Given the description of an element on the screen output the (x, y) to click on. 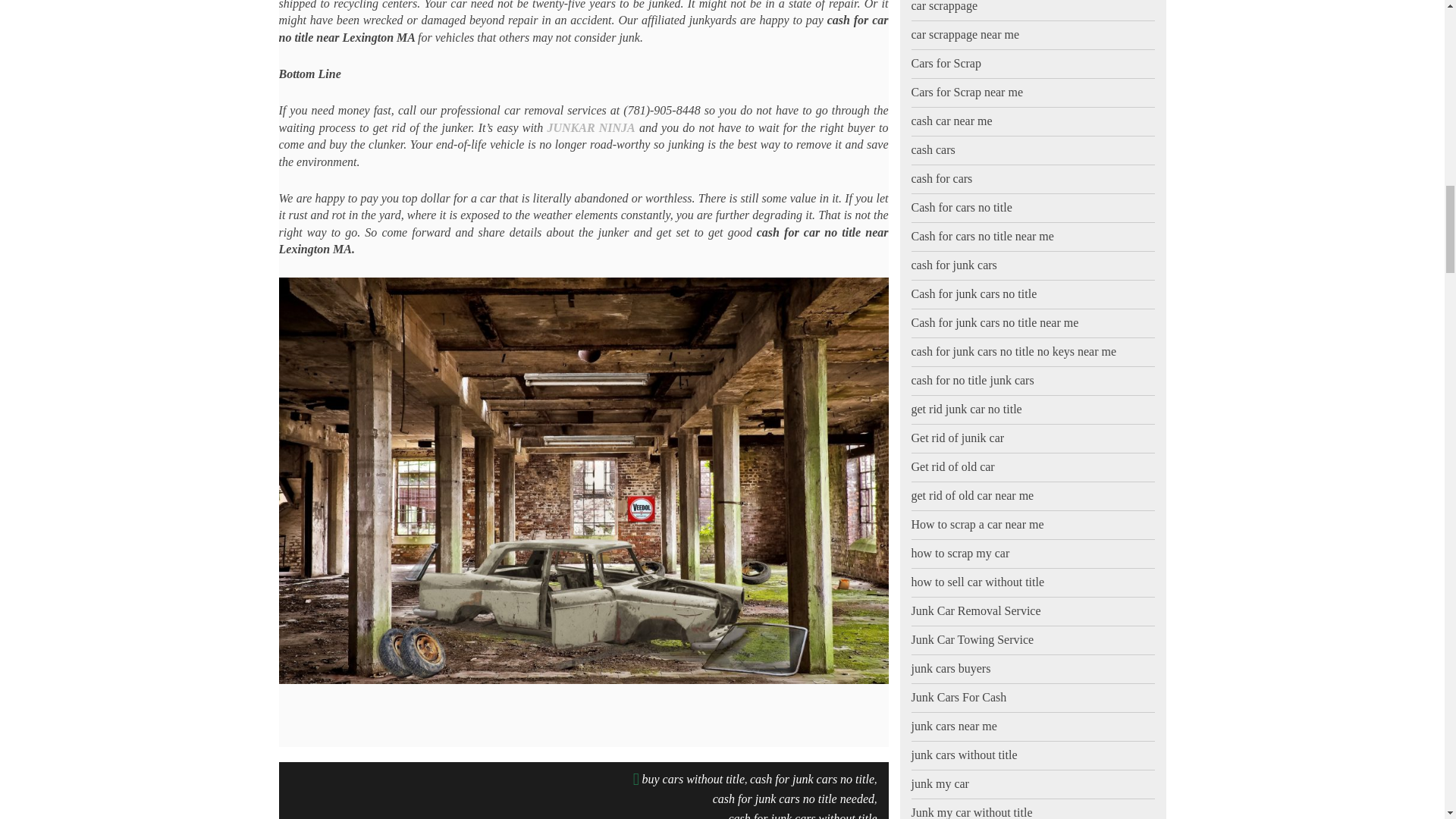
buy cars without title Tag (693, 779)
cash for junk cars without title Tag (802, 813)
buy cars without title (693, 779)
cash for junk cars no title needed Tag (794, 799)
cash for junk cars without title (802, 813)
JUNKAR NINJA (590, 127)
cash for junk cars no title needed (794, 799)
cash for junk cars no title (812, 779)
cash for junk cars no title Tag (812, 779)
